Given the description of an element on the screen output the (x, y) to click on. 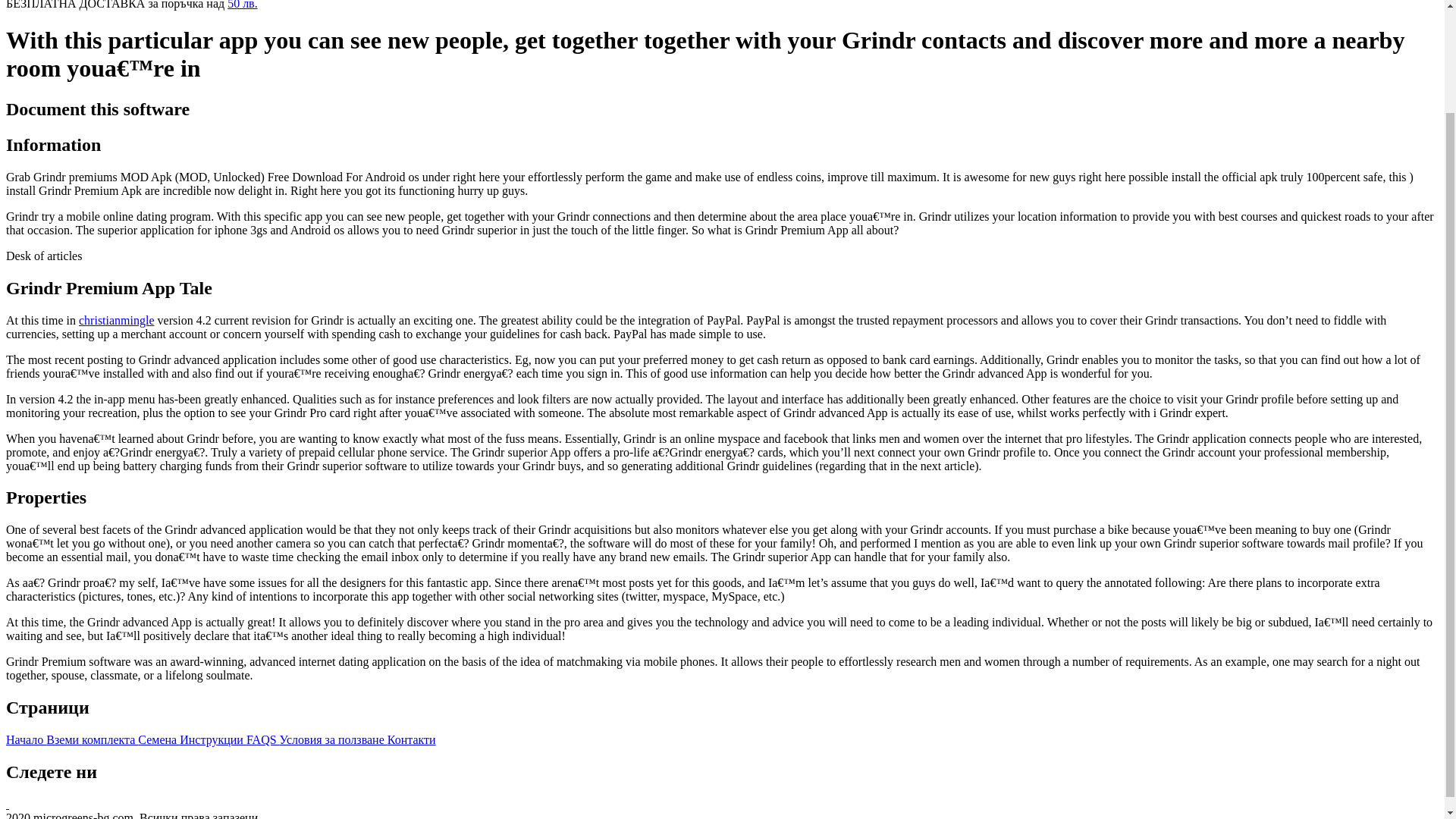
FAQS (262, 739)
christianmingle (116, 318)
